Given the description of an element on the screen output the (x, y) to click on. 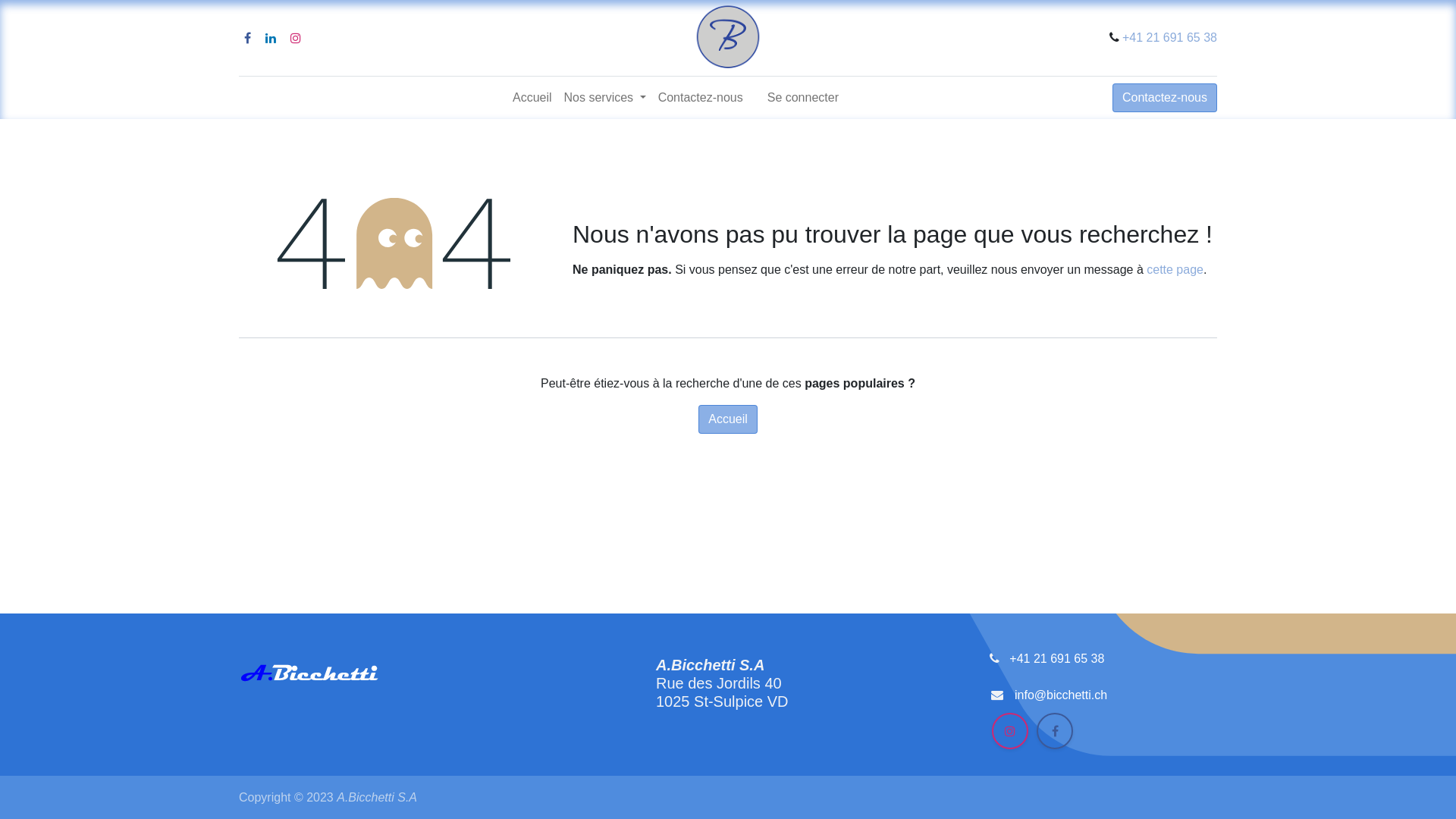
+41 21 691 65 38 Element type: text (1103, 669)
Contactez-nous Element type: text (1164, 97)
Se connecter Element type: text (802, 97)
Contactez-nous Element type: text (700, 97)
Nos services Element type: text (605, 97)
A.Bicchetti S.A Element type: hover (727, 37)
cette page Element type: text (1174, 269)
Accueil Element type: text (727, 418)
+41 21 691 65 38 Element type: text (1169, 37)
info@bicchetti.ch Element type: text (1060, 694)
Accueil Element type: text (532, 97)
